Given the description of an element on the screen output the (x, y) to click on. 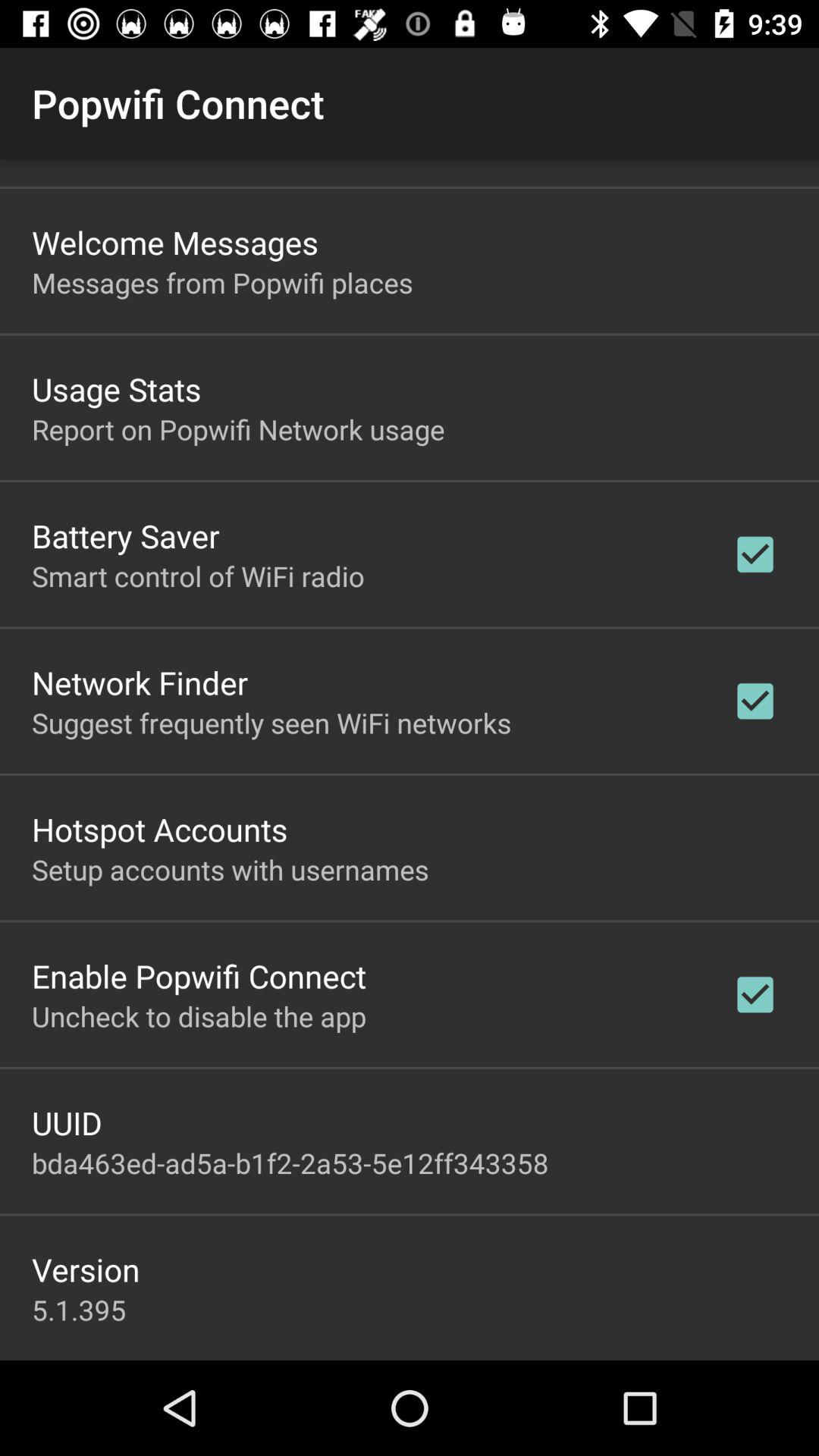
tap the icon below the network finder app (271, 722)
